Given the description of an element on the screen output the (x, y) to click on. 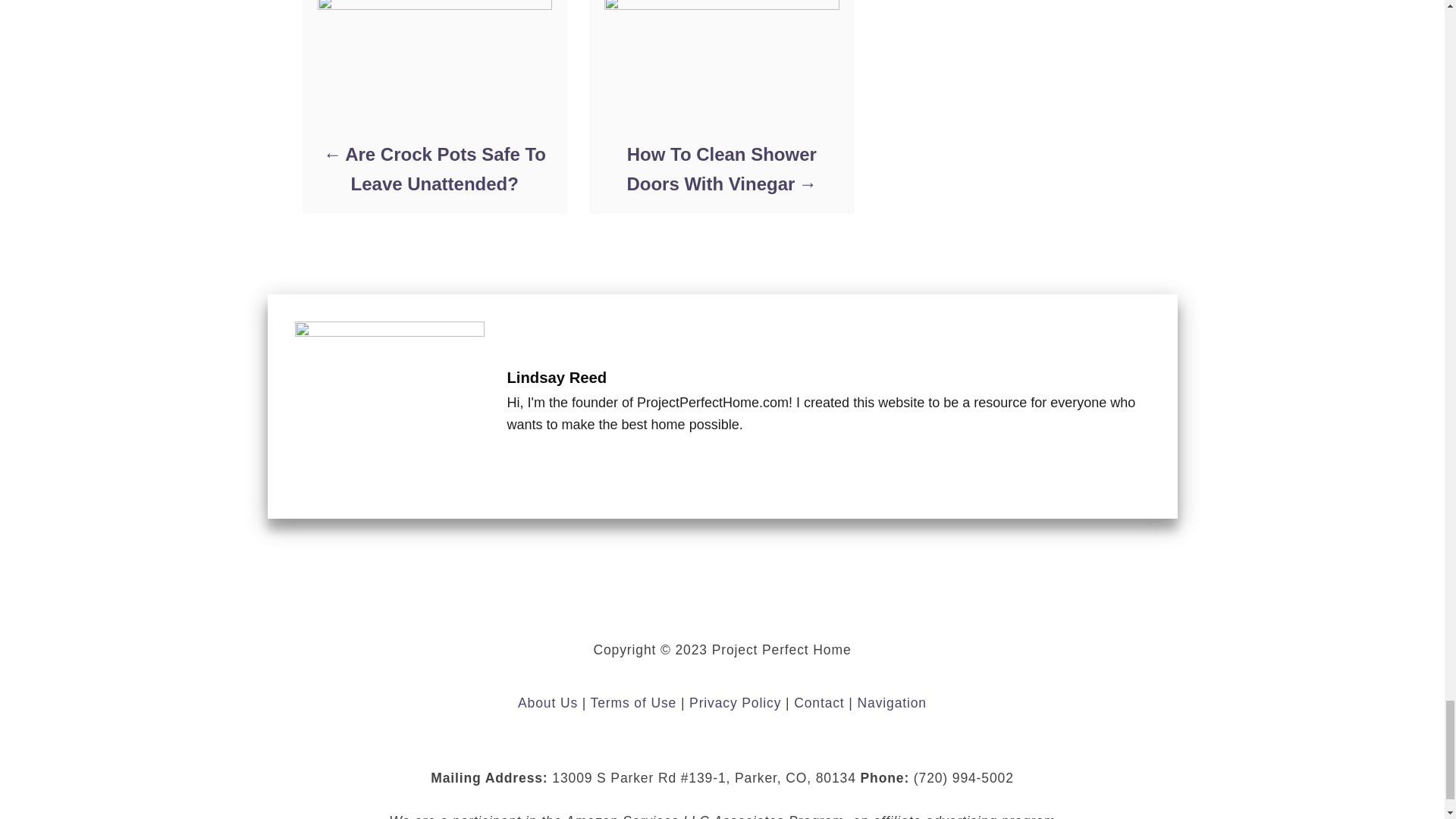
Are Crock Pots Safe To Leave Unattended? (434, 169)
About Us (548, 702)
Terms of Use (634, 702)
Privacy Policy (734, 702)
Navigation (891, 702)
How To Clean Shower Doors With Vinegar (721, 169)
Contact (818, 702)
